Given the description of an element on the screen output the (x, y) to click on. 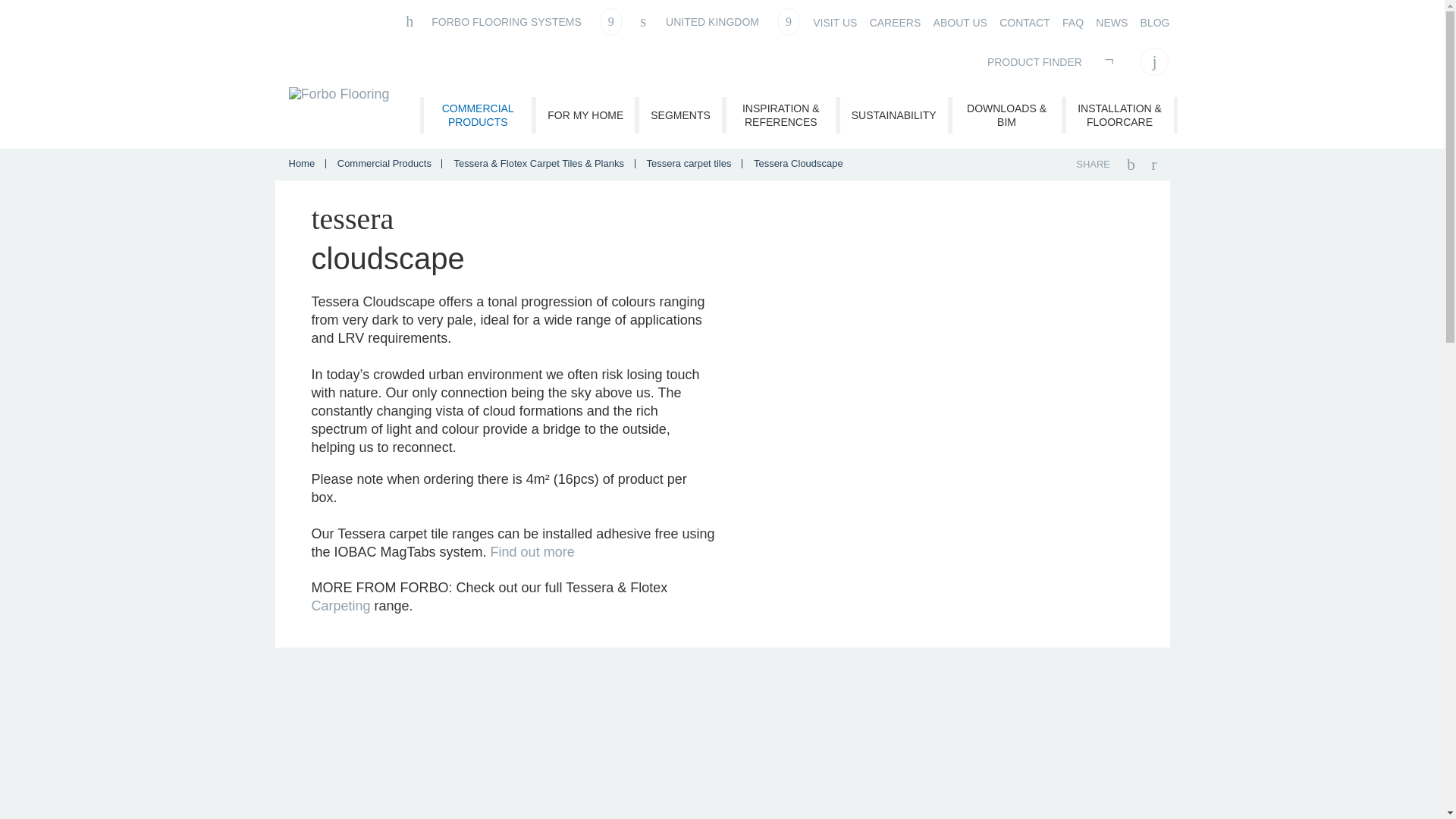
CAREERS (895, 23)
Division (512, 22)
Home (302, 163)
FORBO FLOORING SYSTEMS (512, 22)
ABOUT US (960, 23)
VISIT US (834, 23)
Commercial Products (385, 163)
NEWS (1111, 23)
CAREERS (895, 23)
SUSTAINABILITY (893, 115)
